Given the description of an element on the screen output the (x, y) to click on. 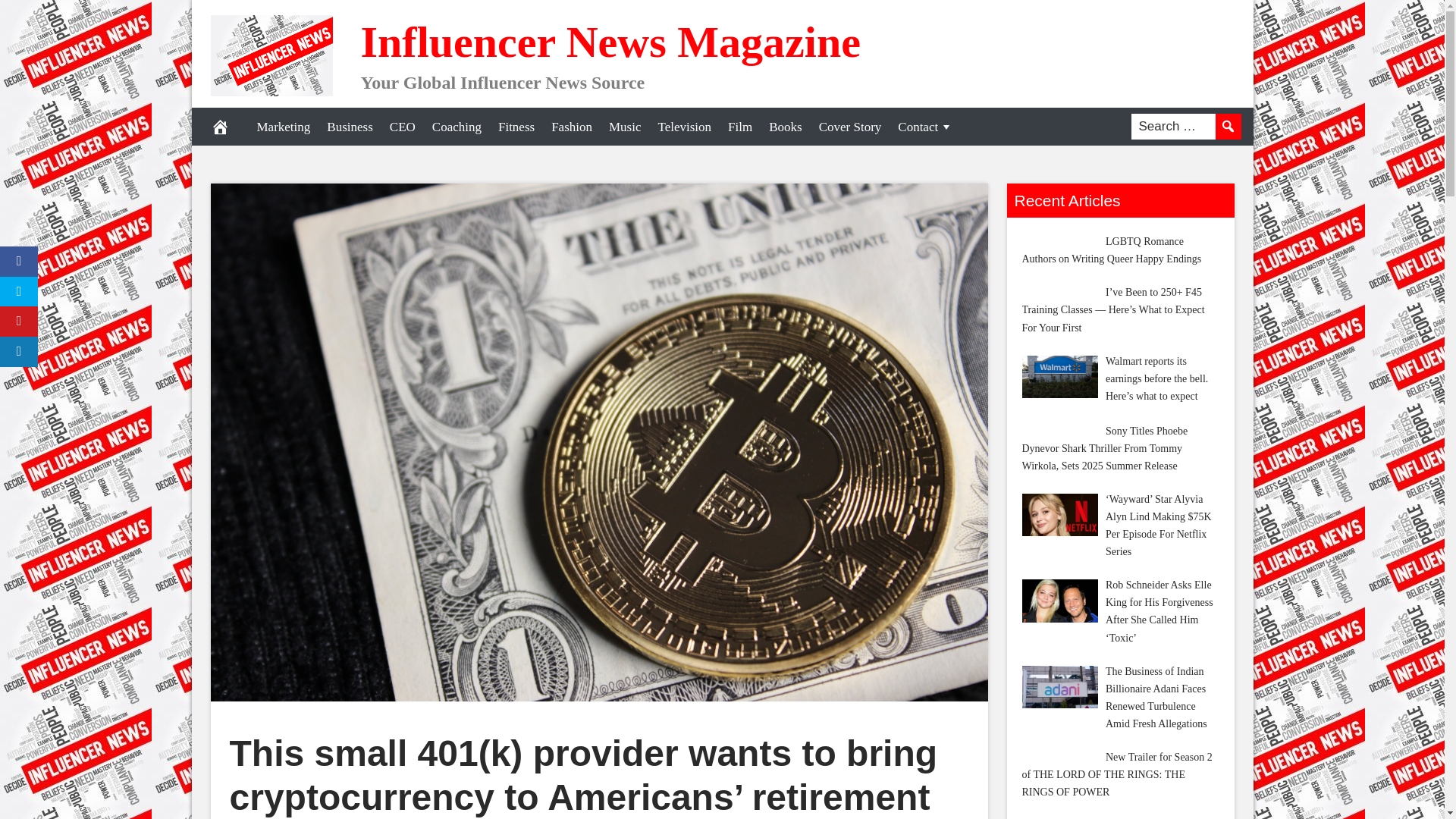
CEO (402, 126)
Film (739, 126)
Cover Story (849, 126)
Books (784, 126)
Fashion (571, 126)
Music (624, 126)
Marketing (283, 126)
Fitness (516, 126)
Business (349, 126)
Coaching (456, 126)
